Given the description of an element on the screen output the (x, y) to click on. 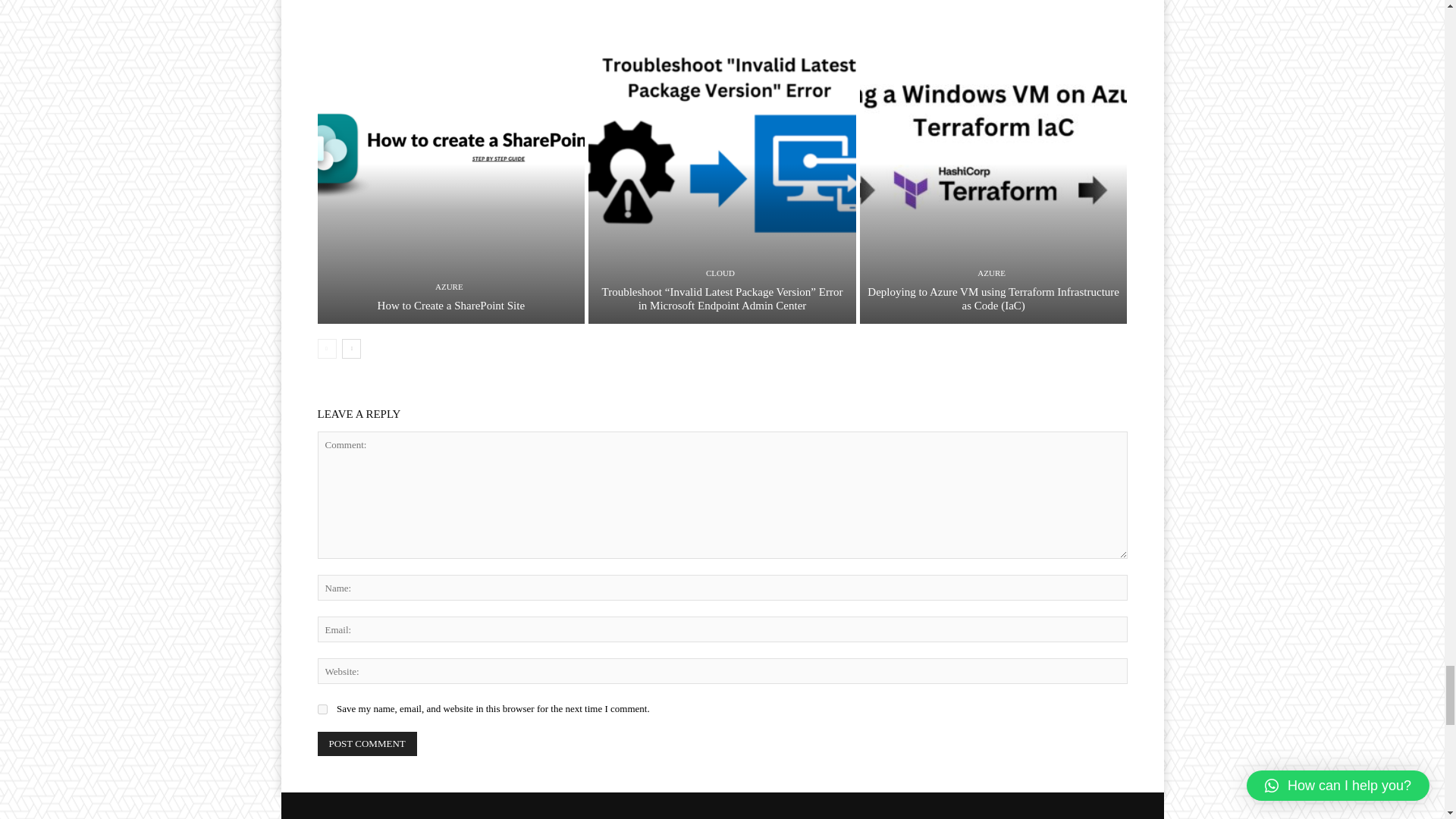
Post Comment (366, 743)
yes (321, 708)
